Given the description of an element on the screen output the (x, y) to click on. 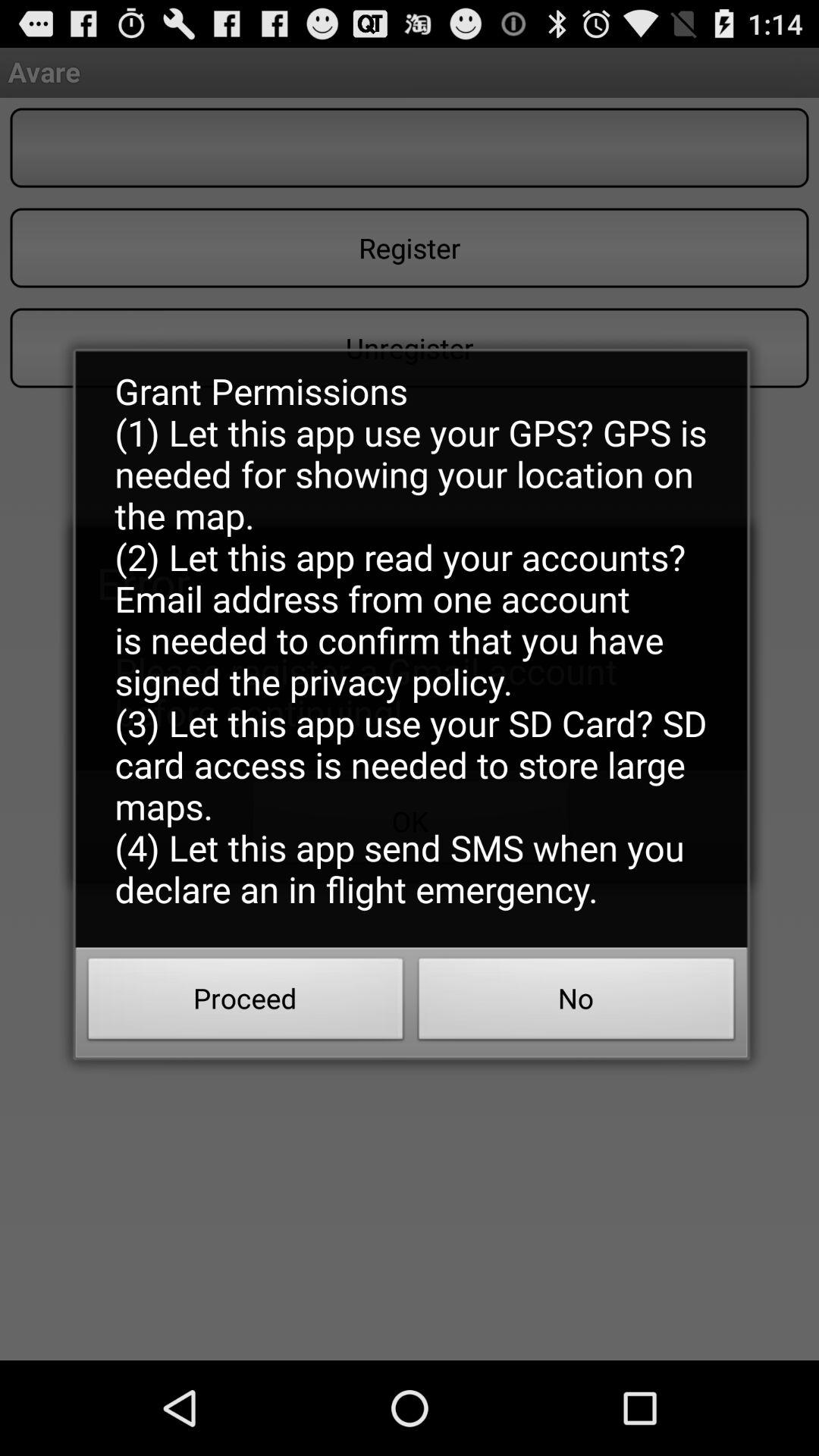
press proceed icon (245, 1003)
